Given the description of an element on the screen output the (x, y) to click on. 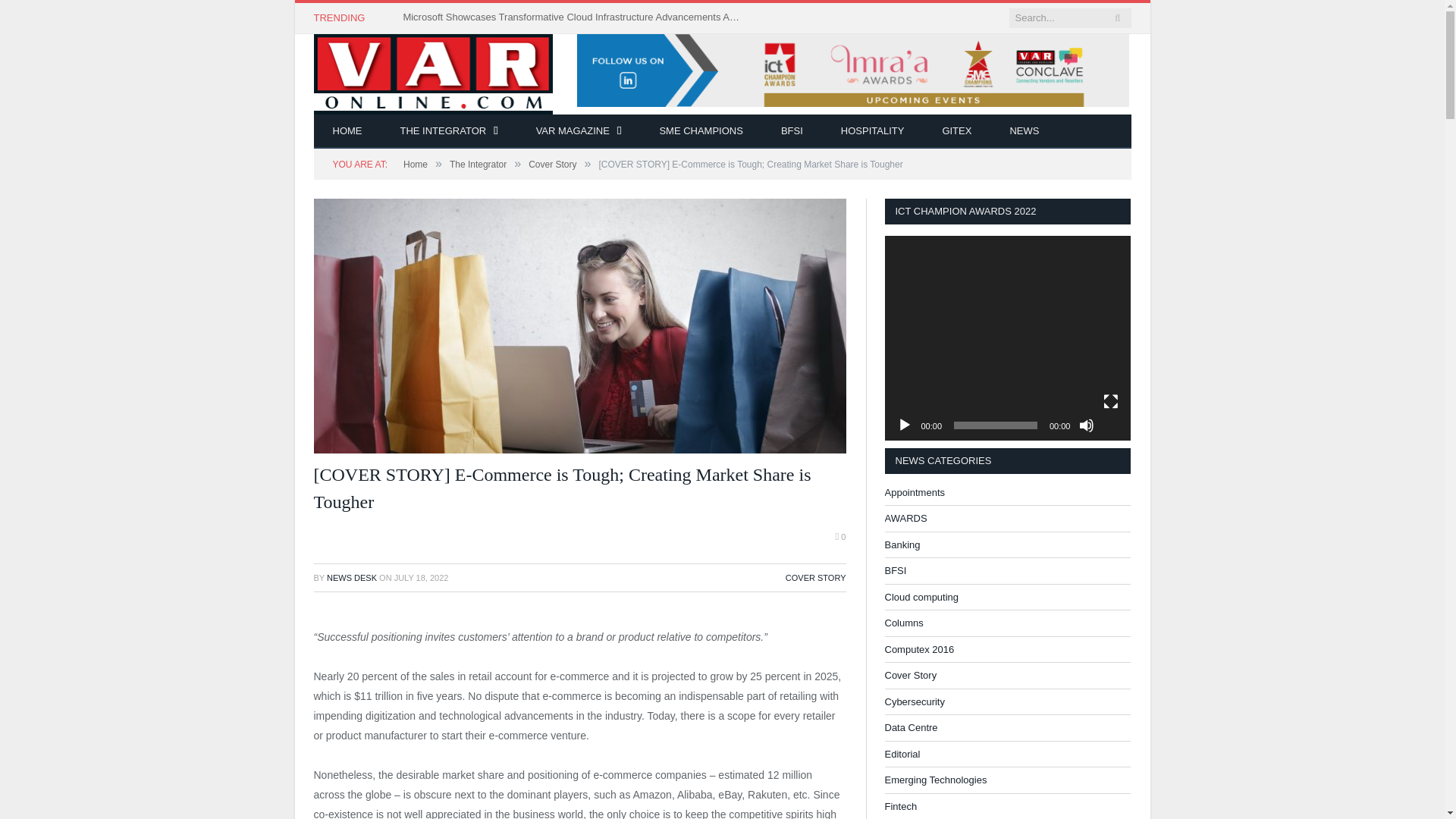
VARonline (433, 104)
THE INTEGRATOR (448, 131)
HOME (347, 131)
VAR MAGAZINE (578, 131)
